Given the description of an element on the screen output the (x, y) to click on. 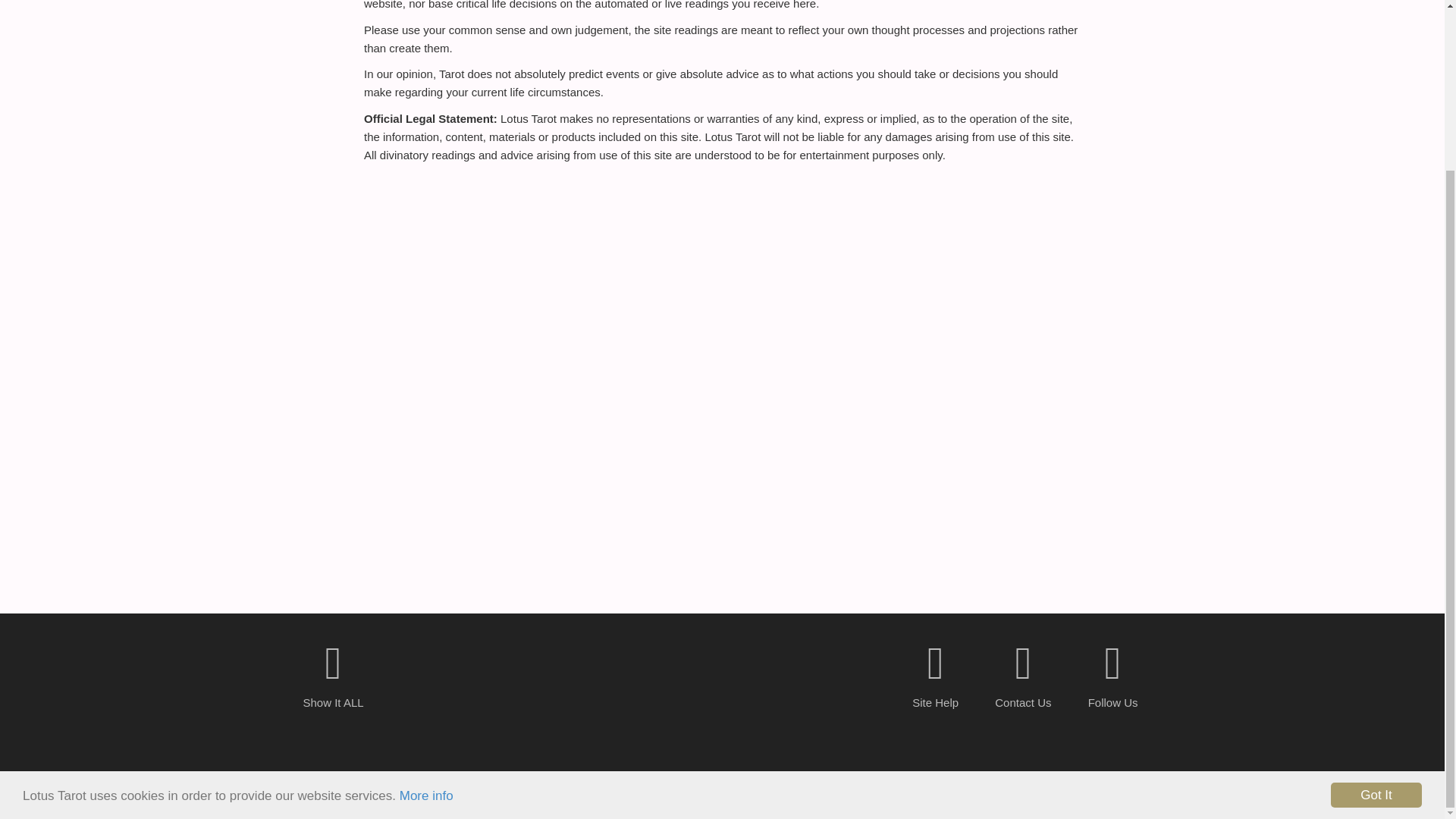
Disclaimer (752, 787)
Privacy (701, 787)
Affiliates (809, 787)
Show everything else on Lotus Tarot (333, 666)
